Given the description of an element on the screen output the (x, y) to click on. 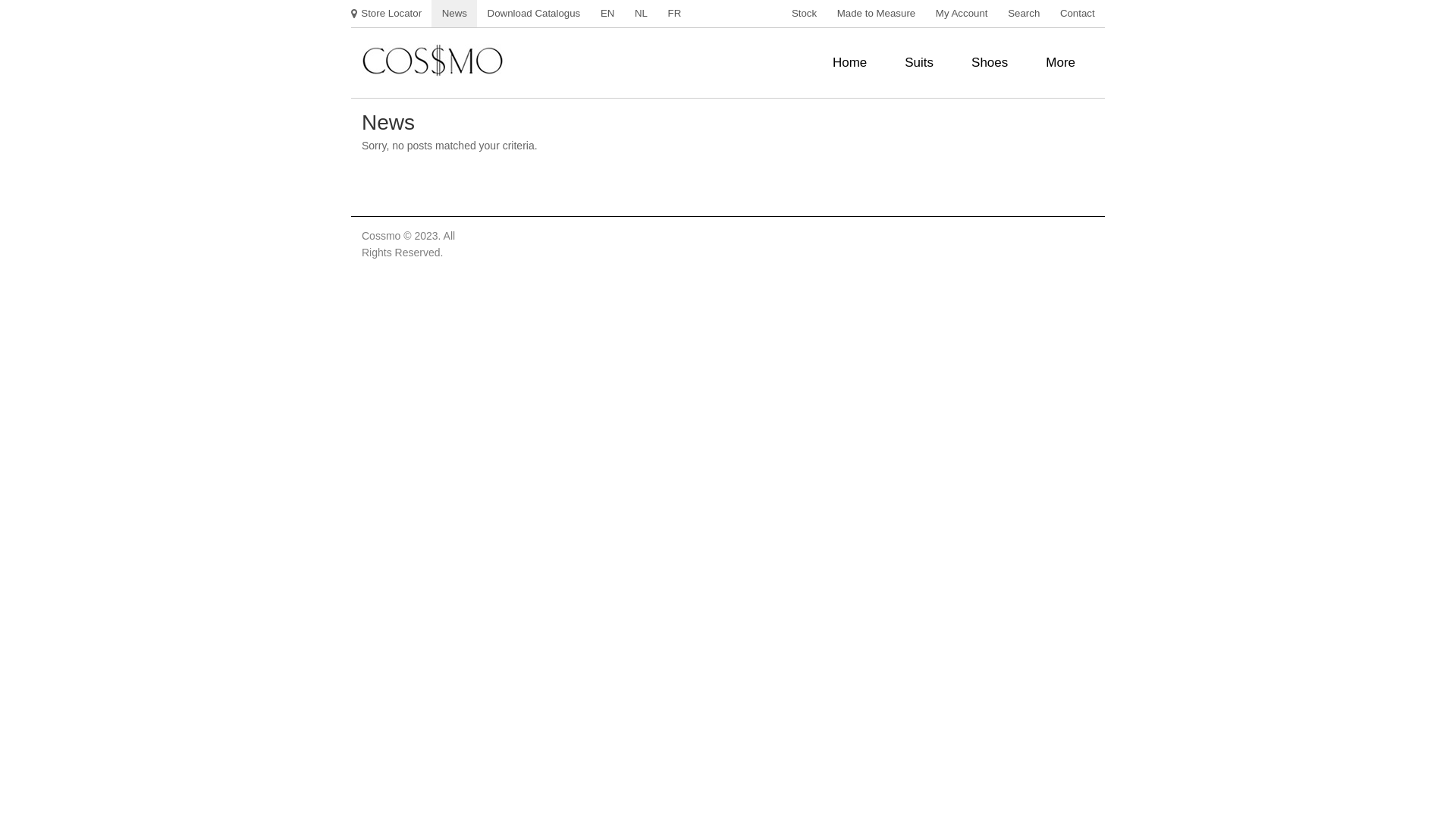
Home Element type: text (849, 62)
Search Element type: text (1023, 13)
More Element type: text (1060, 62)
My Account Element type: text (961, 13)
Suits Element type: text (918, 62)
Contact Element type: text (1077, 13)
The Lifestyle Collection Element type: hover (433, 60)
Store Locator Element type: text (391, 13)
Made to Measure Element type: text (875, 13)
News Element type: text (453, 13)
Shoes Element type: text (989, 62)
FR Element type: text (673, 13)
Stock Element type: text (804, 13)
Download Catalogus Element type: text (532, 13)
EN Element type: text (607, 13)
NL Element type: text (641, 13)
